Given the description of an element on the screen output the (x, y) to click on. 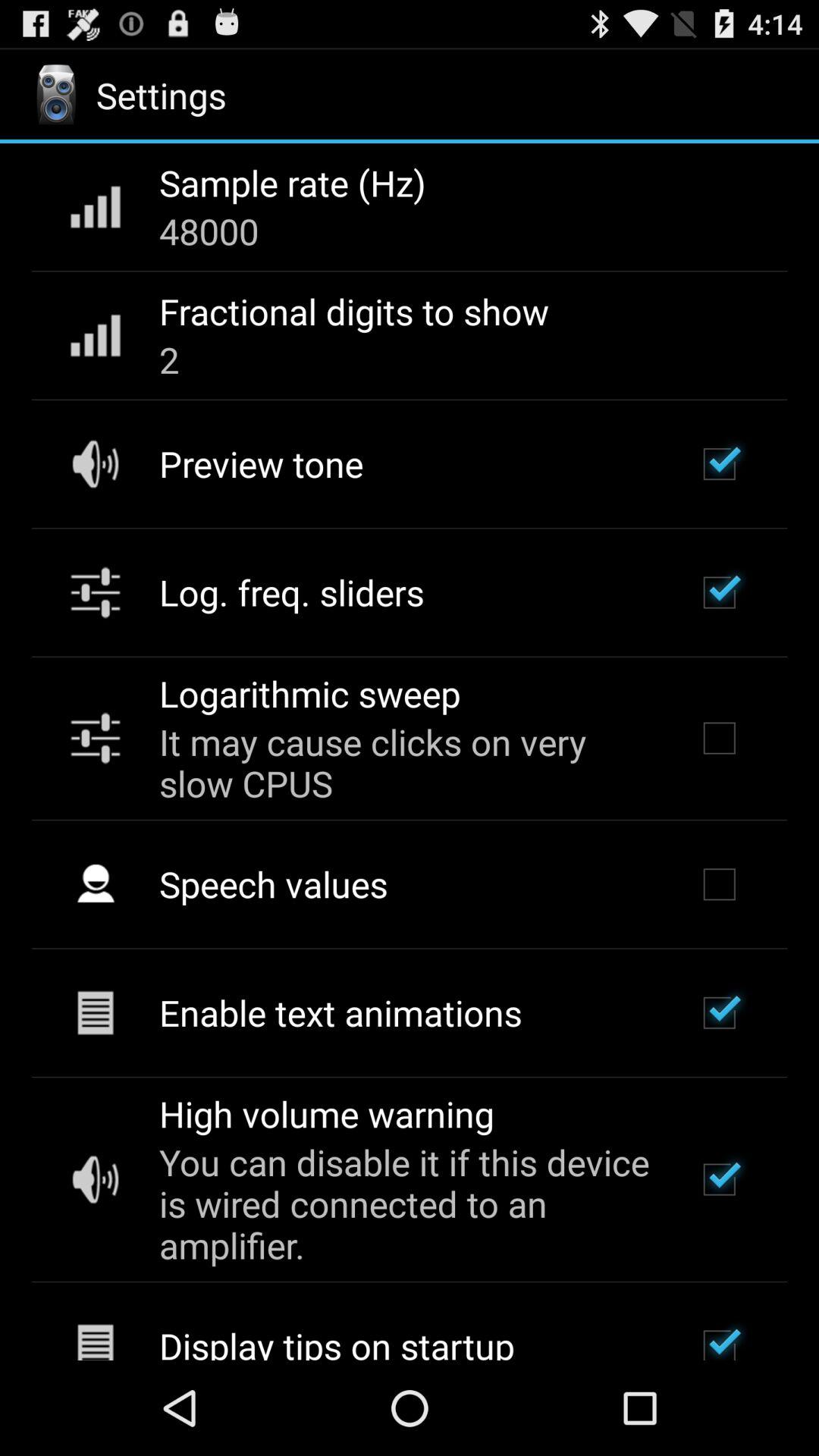
open the speech values item (273, 883)
